Given the description of an element on the screen output the (x, y) to click on. 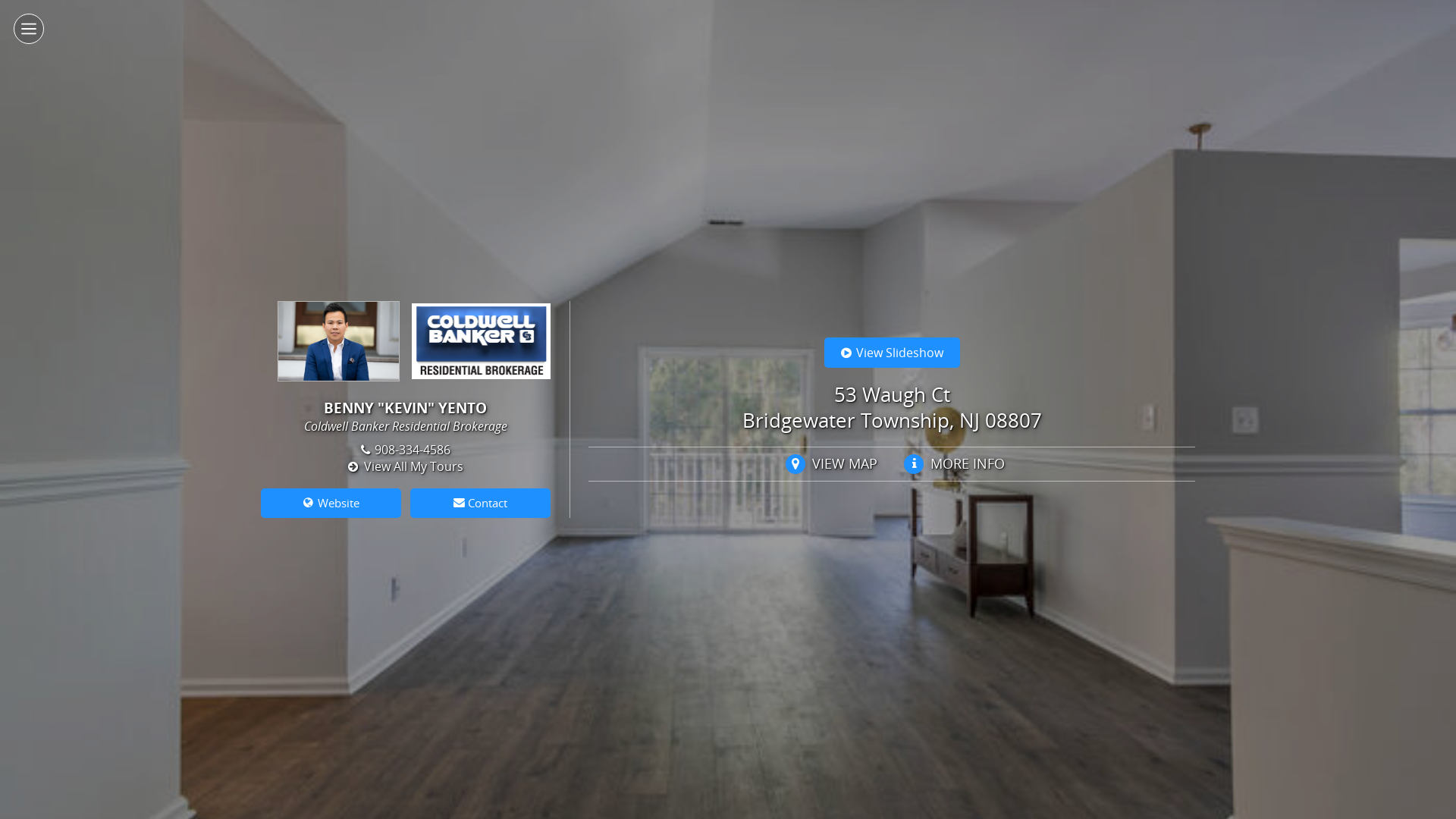
View All My Tours Element type: text (405, 466)
908-334-4586 Element type: text (405, 449)
Website Element type: text (330, 502)
Contact Element type: text (480, 502)
